Given the description of an element on the screen output the (x, y) to click on. 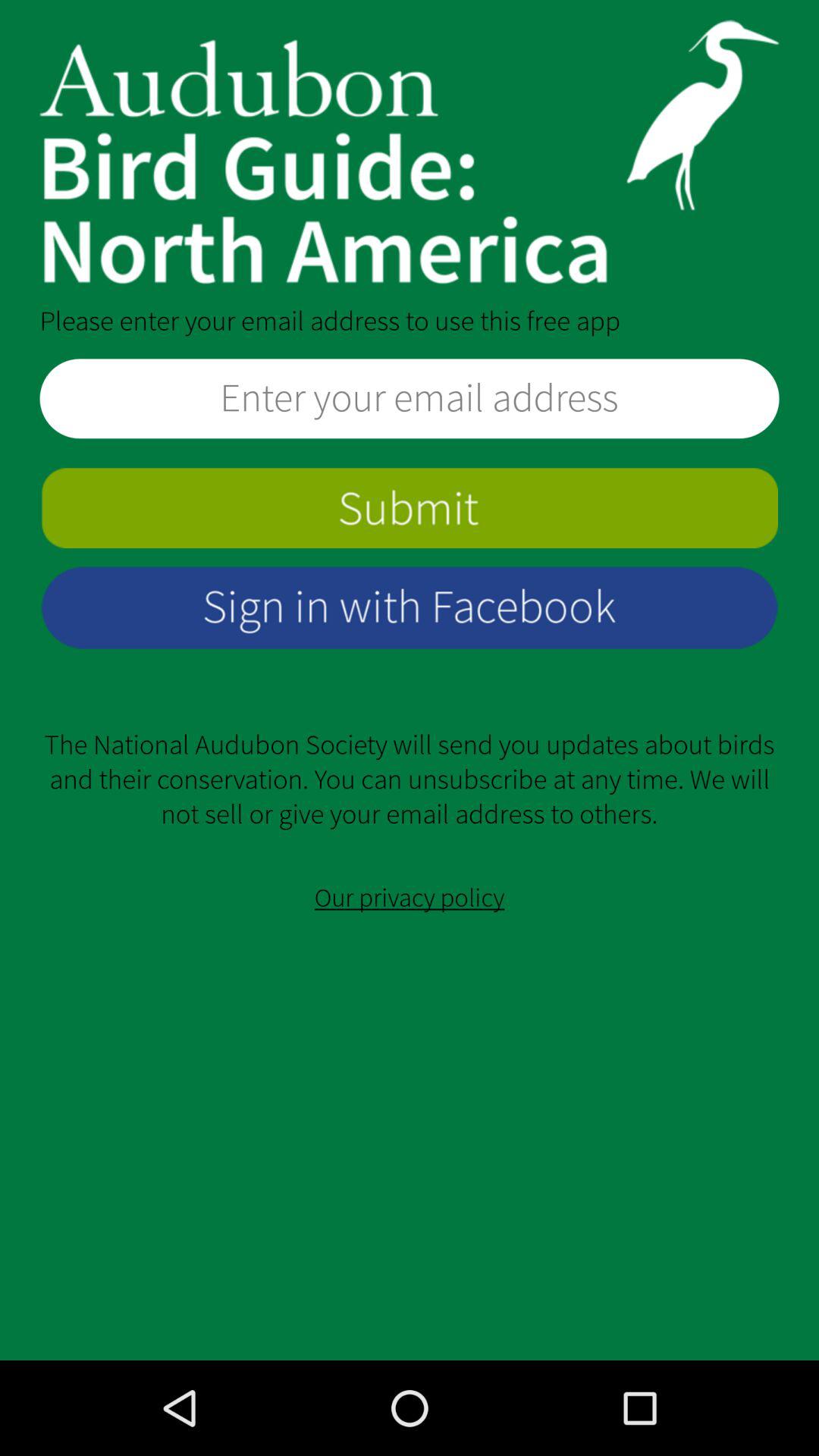
log in to app (409, 607)
